Given the description of an element on the screen output the (x, y) to click on. 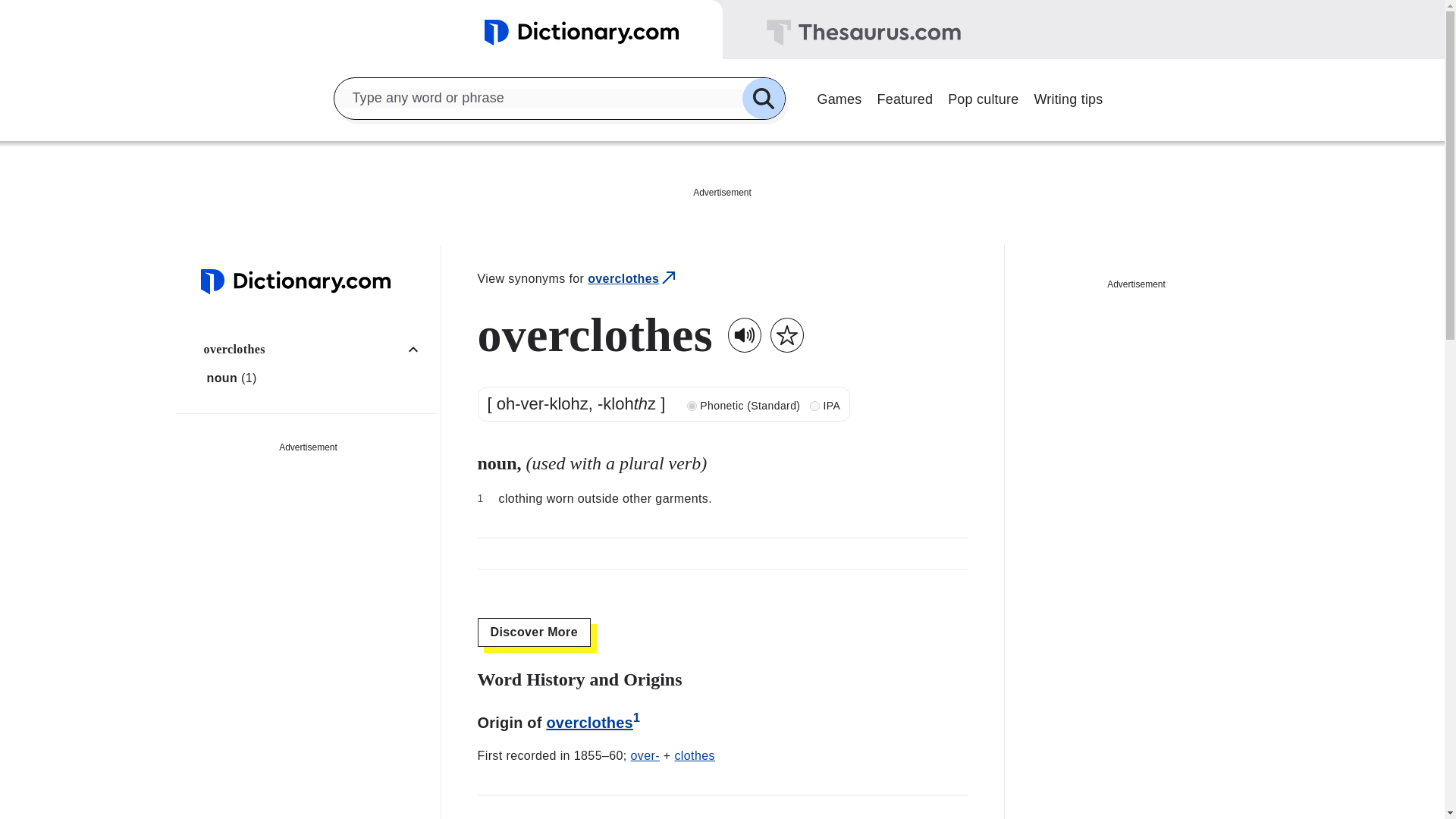
Games (839, 97)
ipa (814, 406)
over- (644, 755)
phonetic (692, 406)
overclothes (633, 279)
overclothes1 (593, 722)
overclothes (316, 349)
Writing tips (1067, 97)
Featured (904, 97)
clothes (694, 755)
